Given the description of an element on the screen output the (x, y) to click on. 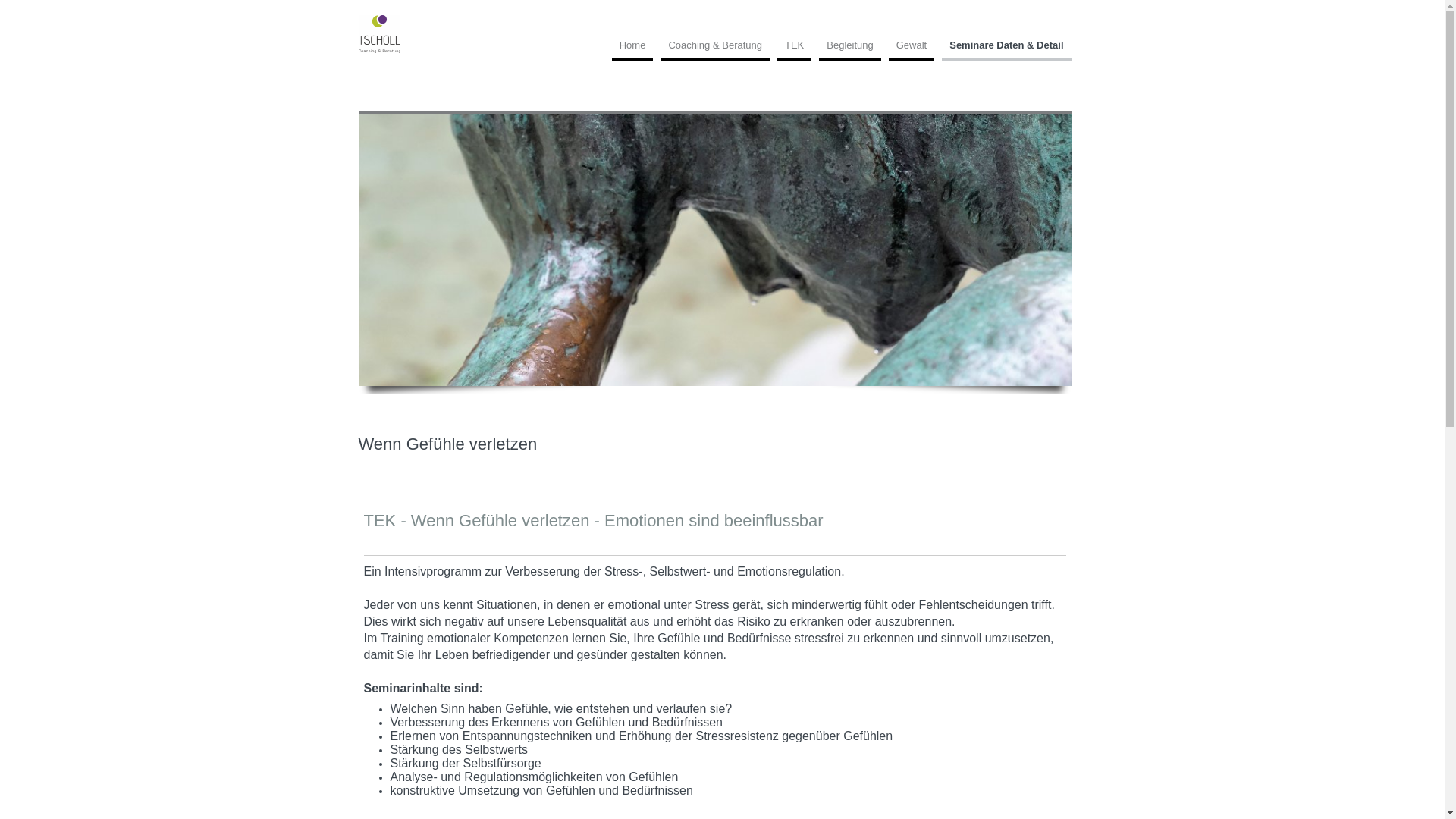
Begleitung Element type: text (849, 49)
TEK Element type: text (794, 49)
Home Element type: text (632, 49)
Gewalt Element type: text (911, 49)
Coaching & Beratung Element type: text (714, 49)
Seminare Daten & Detail Element type: text (1005, 49)
